Given the description of an element on the screen output the (x, y) to click on. 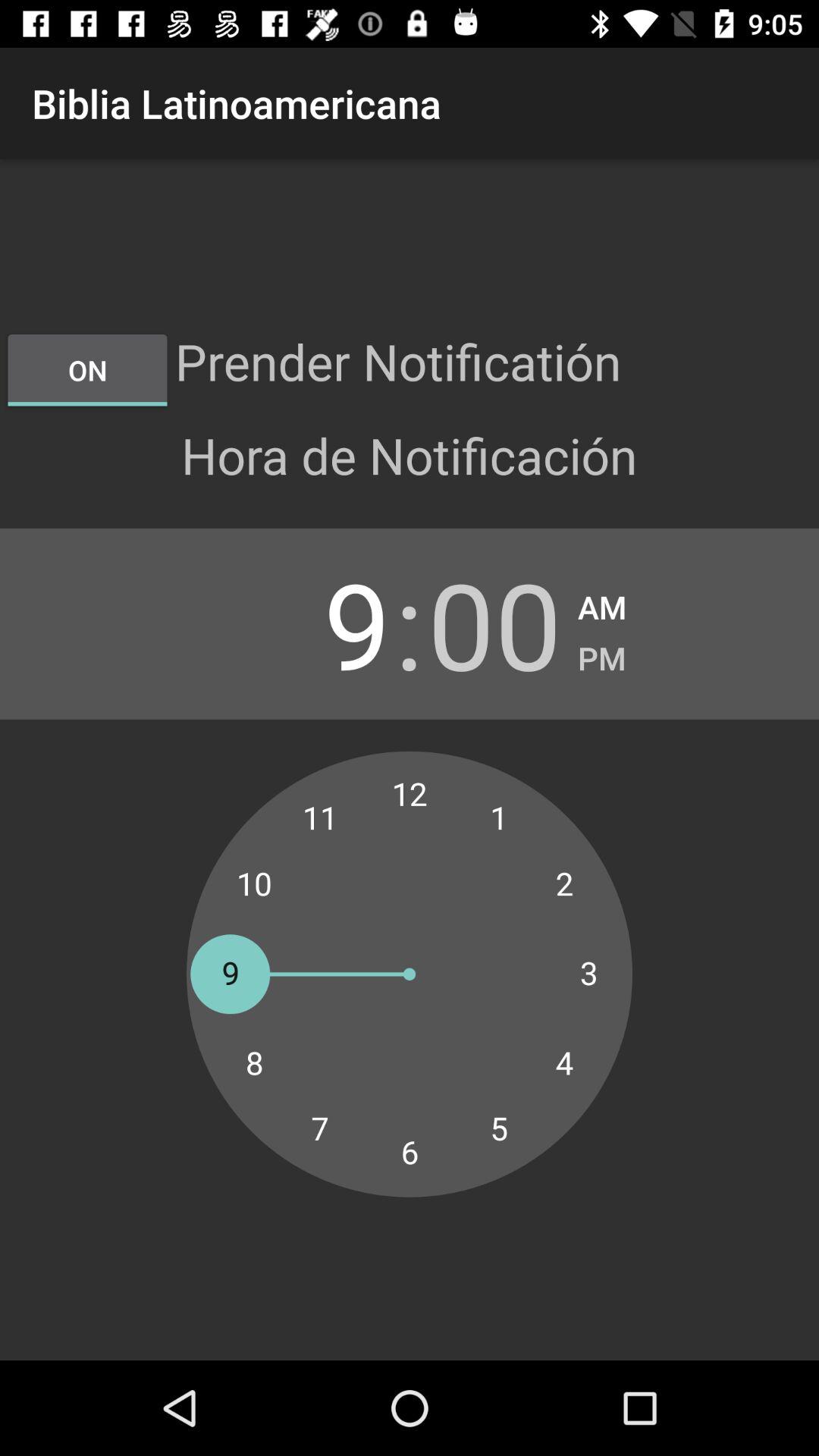
click the item below the biblia latinoamericana (87, 370)
